Given the description of an element on the screen output the (x, y) to click on. 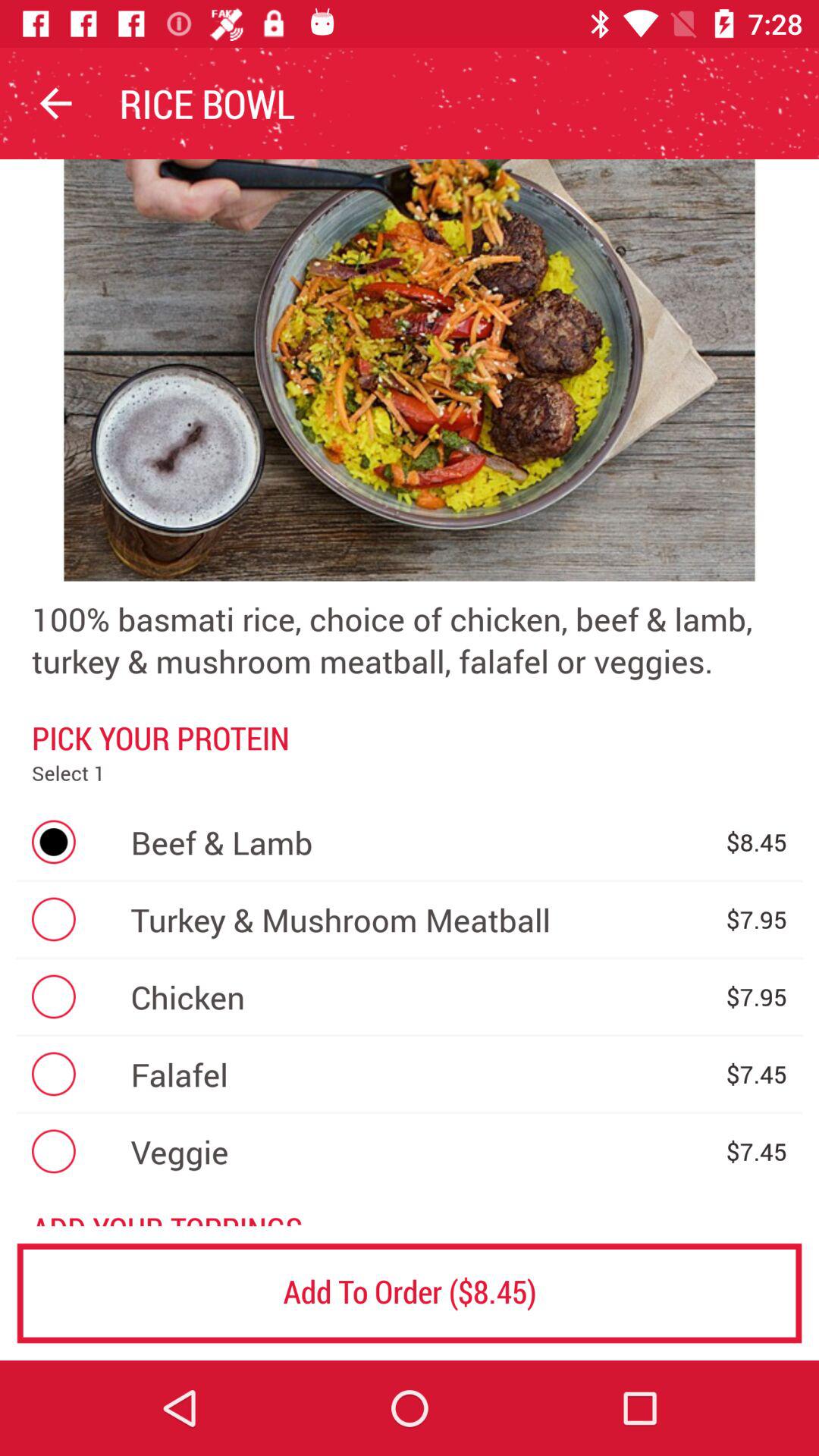
scroll to the veggie (420, 1151)
